Given the description of an element on the screen output the (x, y) to click on. 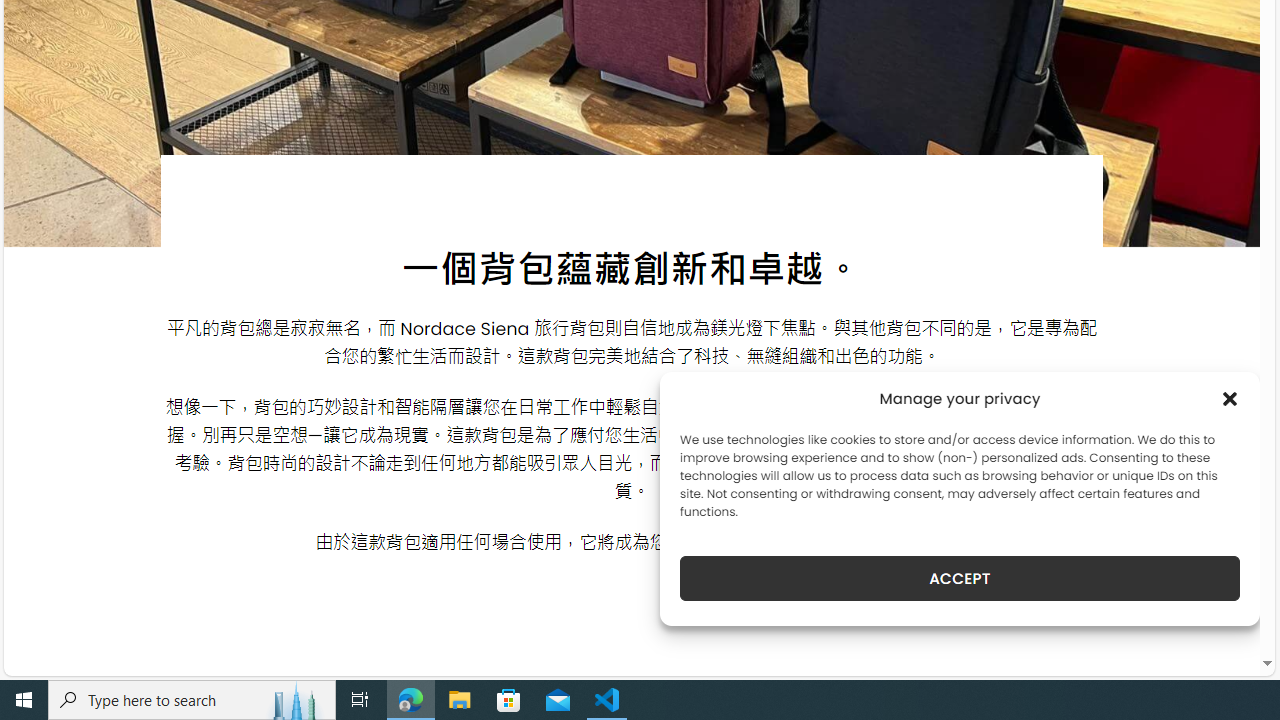
ACCEPT (959, 578)
Class: cmplz-close (1229, 398)
